Given the description of an element on the screen output the (x, y) to click on. 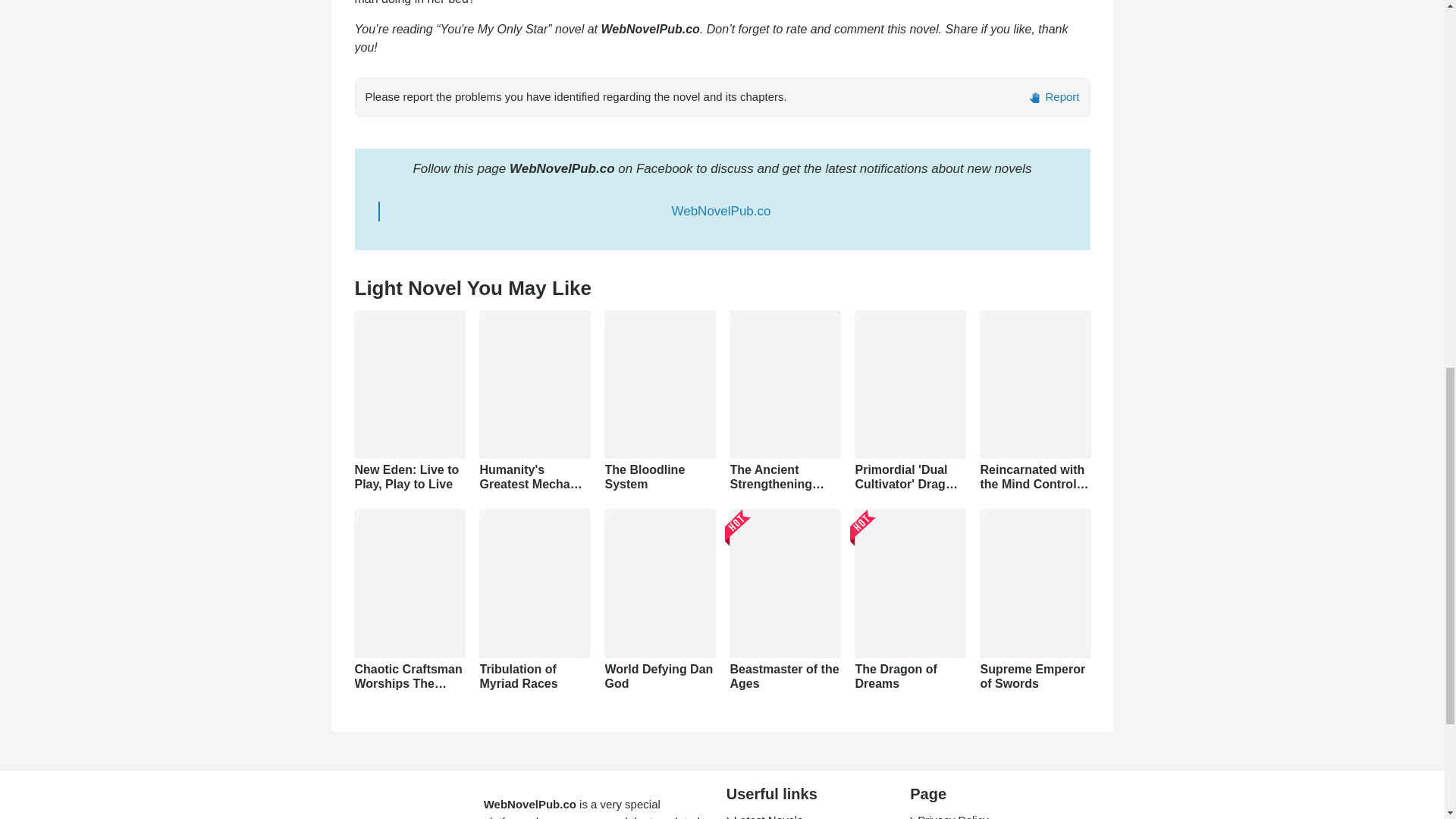
Report (1050, 97)
WebNovelPub.co (720, 210)
Latest Novels (768, 816)
